Given the description of an element on the screen output the (x, y) to click on. 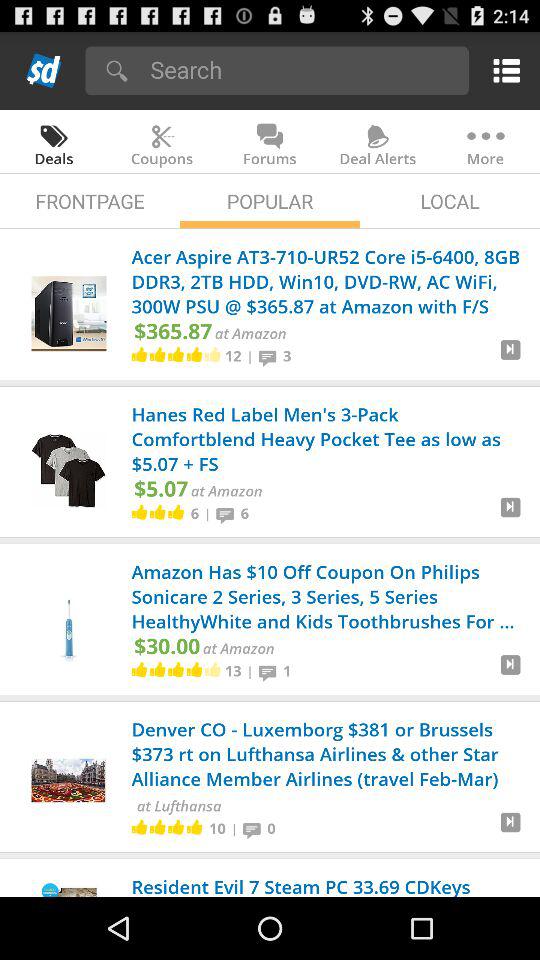
choose popular item (270, 200)
